Given the description of an element on the screen output the (x, y) to click on. 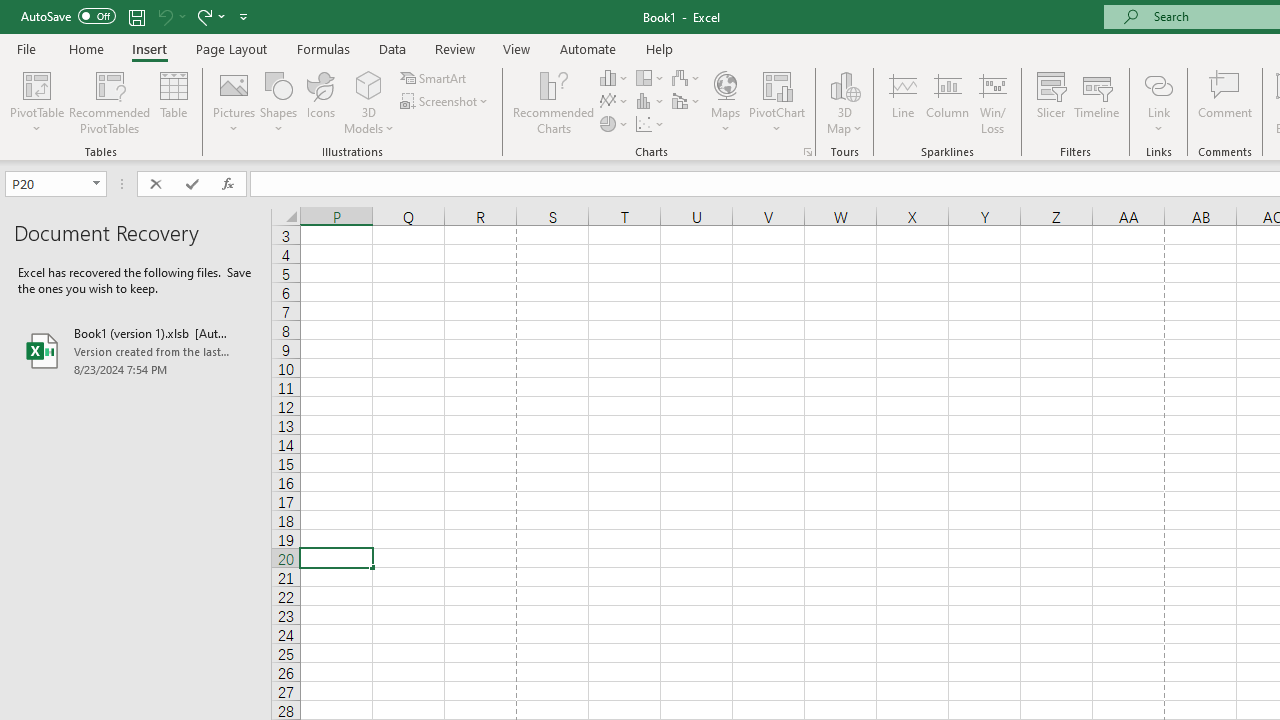
Win/Loss (992, 102)
Line (902, 102)
Insert Hierarchy Chart (651, 78)
Insert Waterfall, Funnel, Stock, Surface, or Radar Chart (687, 78)
Insert Pie or Doughnut Chart (614, 124)
Icons (320, 102)
Recommended PivotTables (109, 102)
Insert Column or Bar Chart (614, 78)
